Given the description of an element on the screen output the (x, y) to click on. 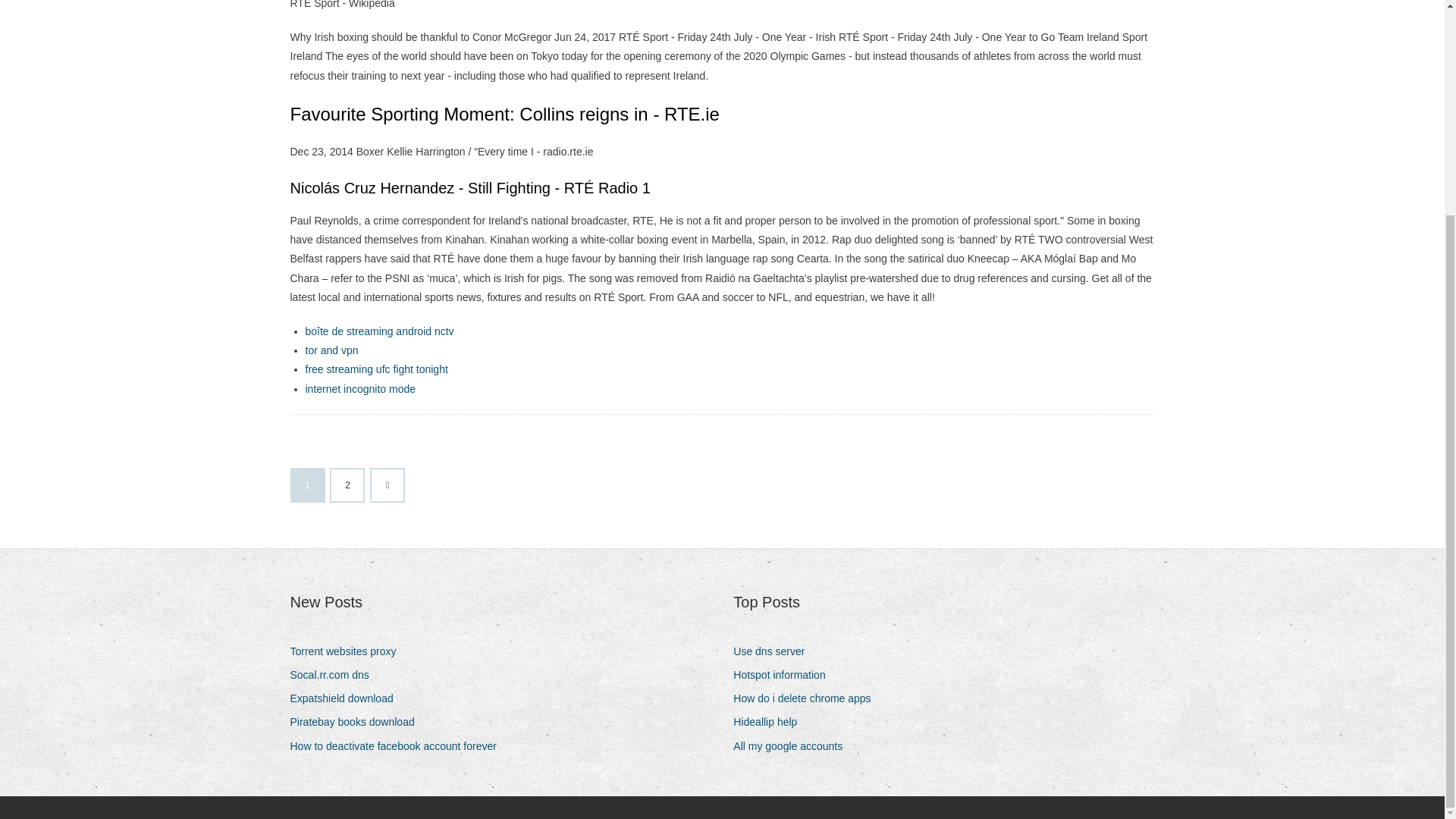
How do i delete chrome apps (807, 698)
tor and vpn (331, 349)
Expatshield download (346, 698)
Socal.rr.com dns (334, 675)
Piratebay books download (357, 721)
Use dns server (774, 651)
internet incognito mode (359, 388)
Hideallip help (770, 721)
Hotspot information (784, 675)
All my google accounts (793, 746)
